Given the description of an element on the screen output the (x, y) to click on. 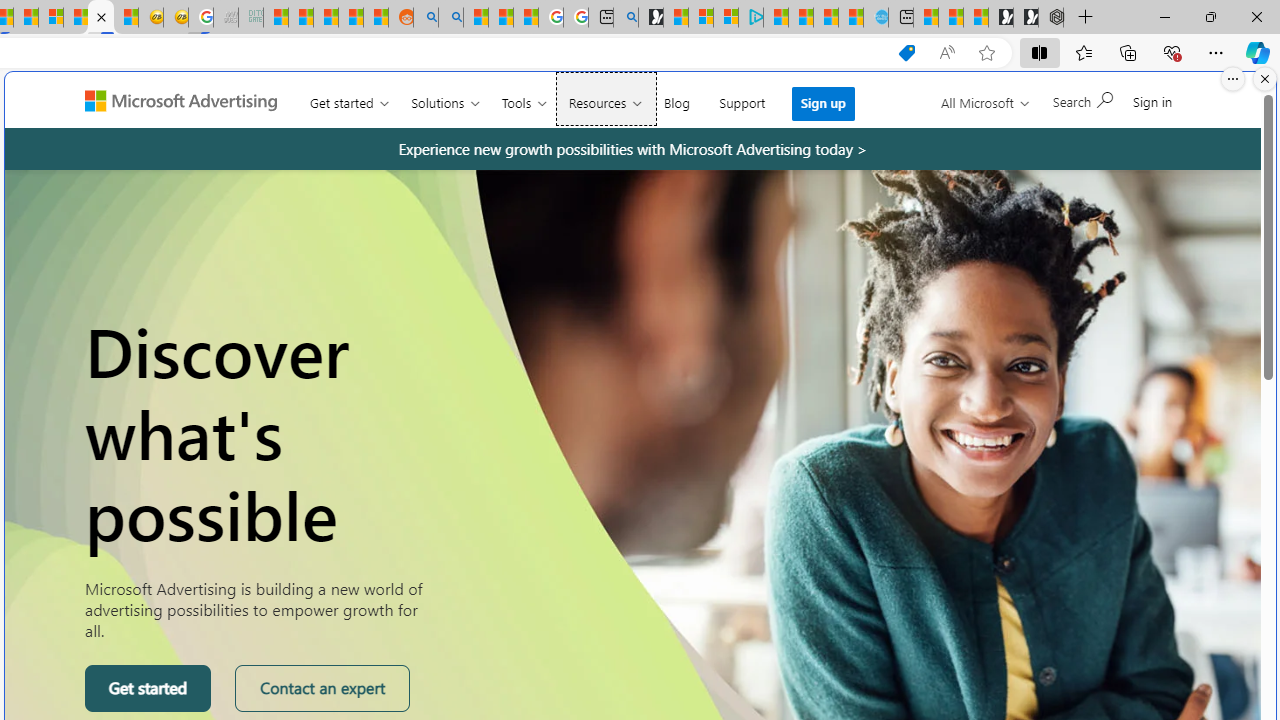
Microsoft Advertising (189, 99)
No, thanks (965, 109)
More options. (1233, 79)
Sign up (823, 103)
Support (742, 98)
Utah sues federal government - Search (451, 17)
